Given the description of an element on the screen output the (x, y) to click on. 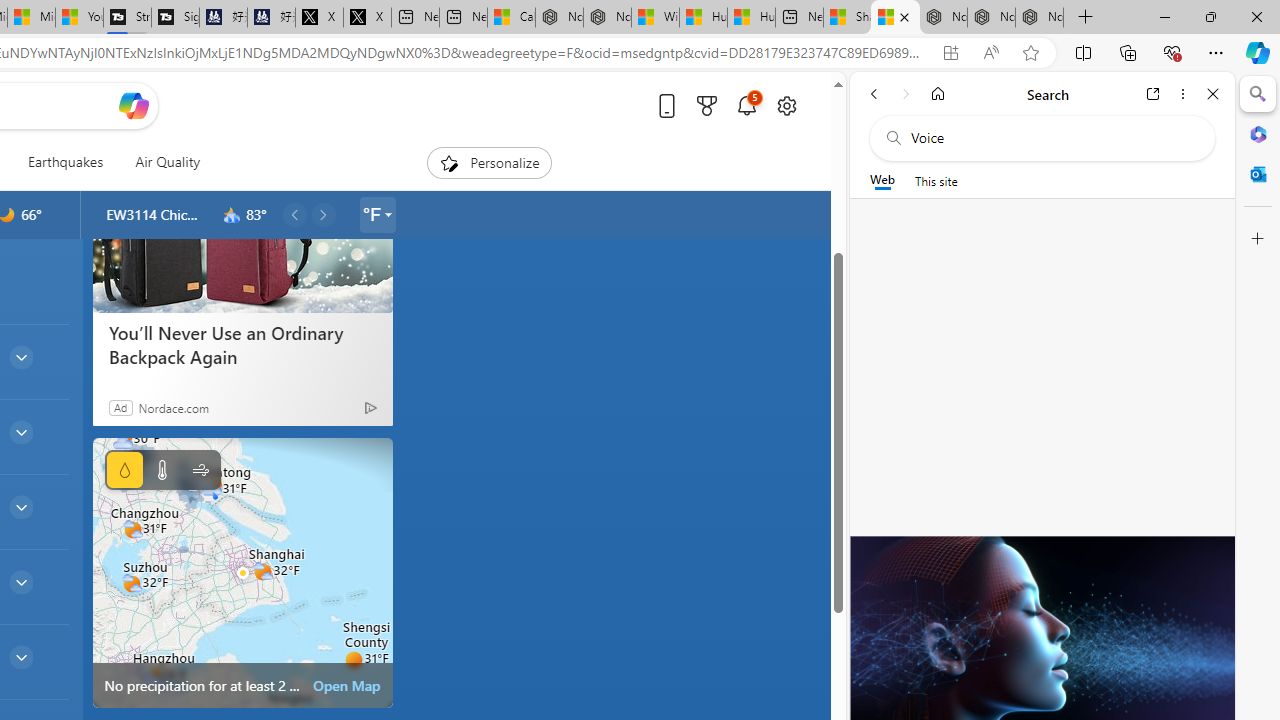
Customize (1258, 239)
common/carouselChevron (323, 214)
Search the web (1051, 137)
Earthquakes (64, 162)
